Given the description of an element on the screen output the (x, y) to click on. 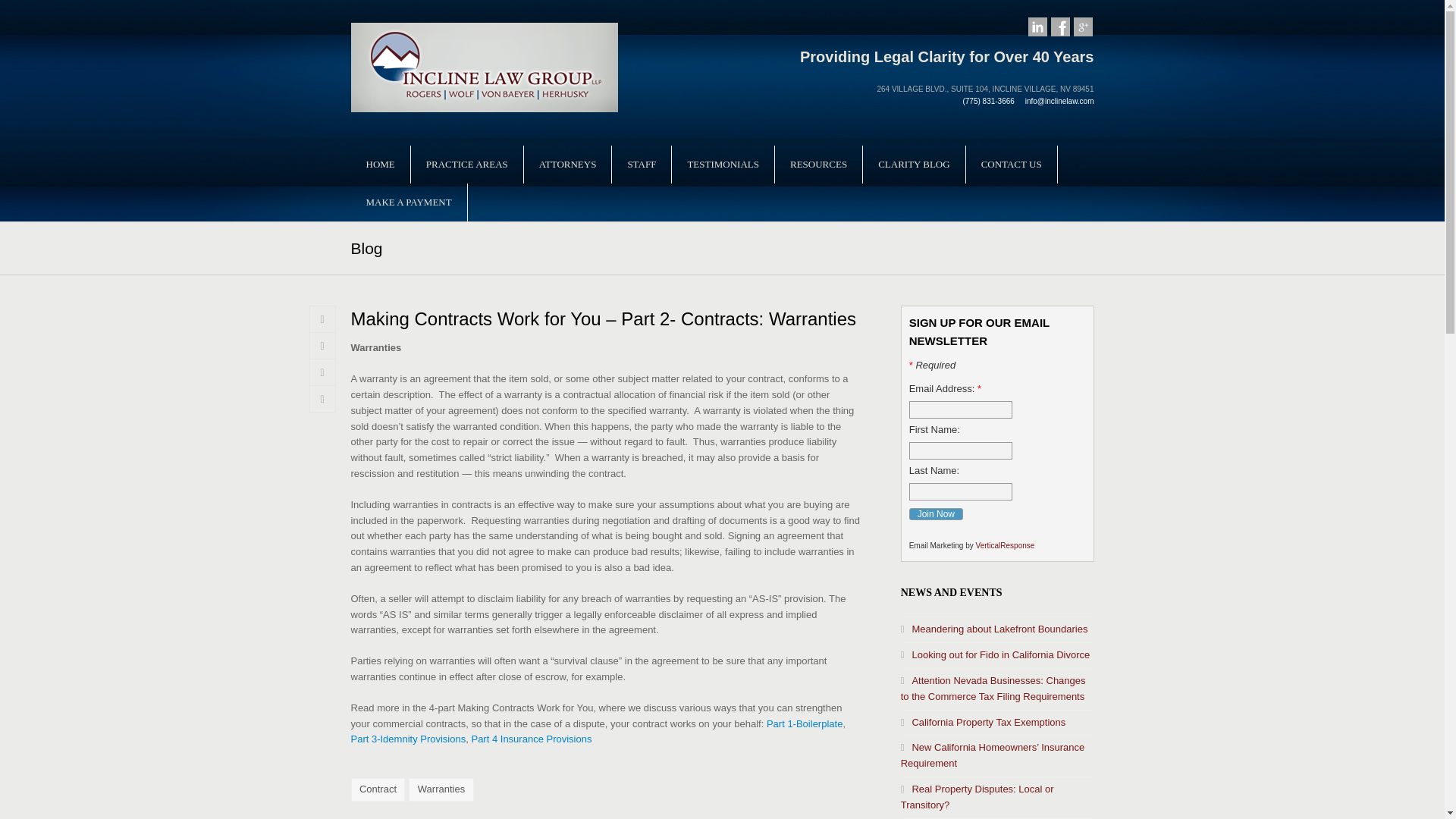
CLARITY BLOG (914, 164)
TESTIMONIALS (722, 164)
Part 1-Boilerplate (805, 723)
RESOURCES (817, 164)
Warranties (441, 789)
STAFF (641, 164)
INCLINE LAW GROUP LLP (483, 66)
Share on Pinterest (322, 398)
Join Now (935, 513)
Share on Twitter (322, 319)
HOME (379, 164)
Part 4 Insurance Provisions (530, 738)
Share on Facebook (322, 345)
Contract (377, 789)
ATTORNEYS (567, 164)
